Given the description of an element on the screen output the (x, y) to click on. 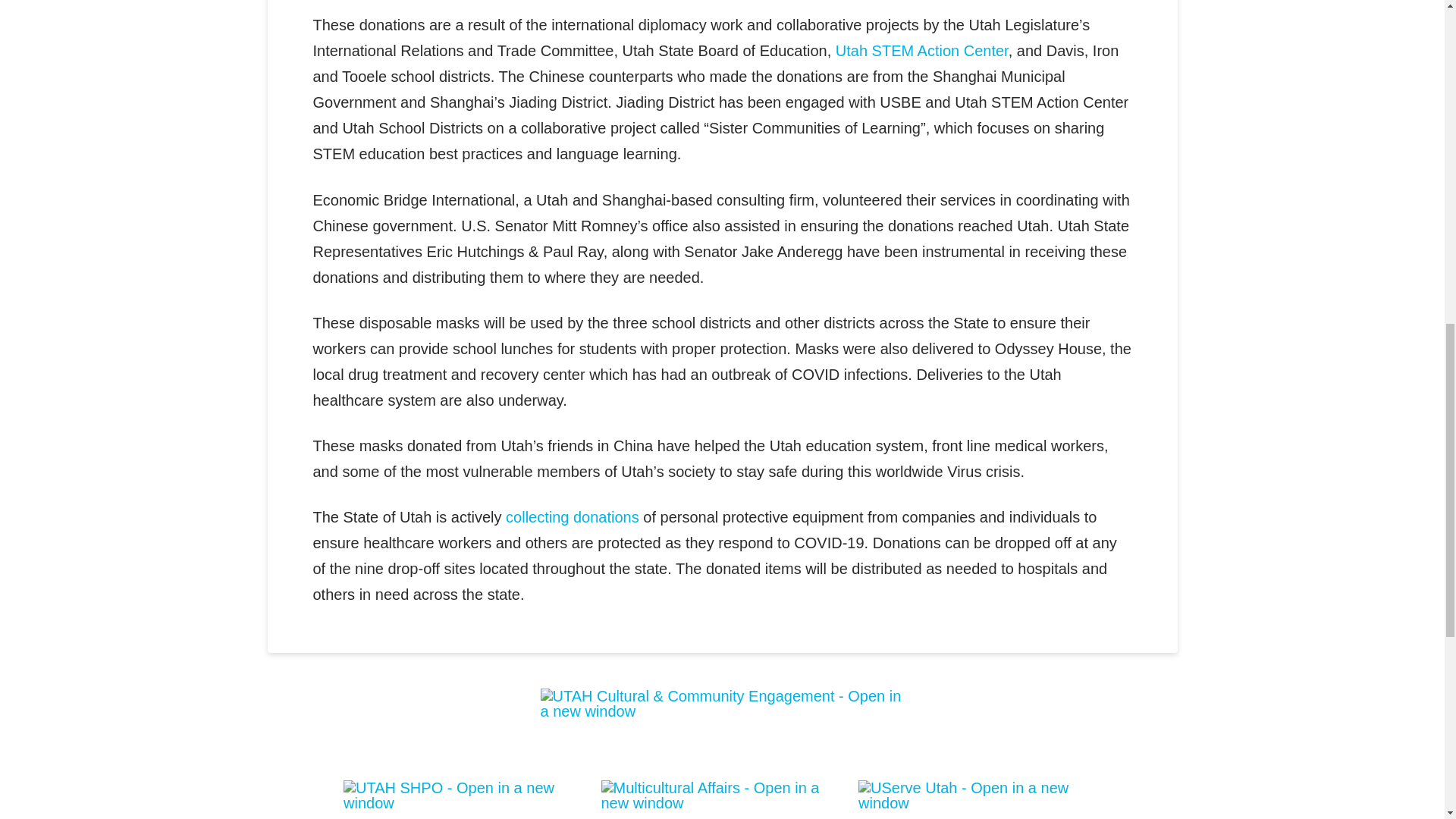
collecting donations (572, 516)
Utah STEM Action Center (922, 50)
